Given the description of an element on the screen output the (x, y) to click on. 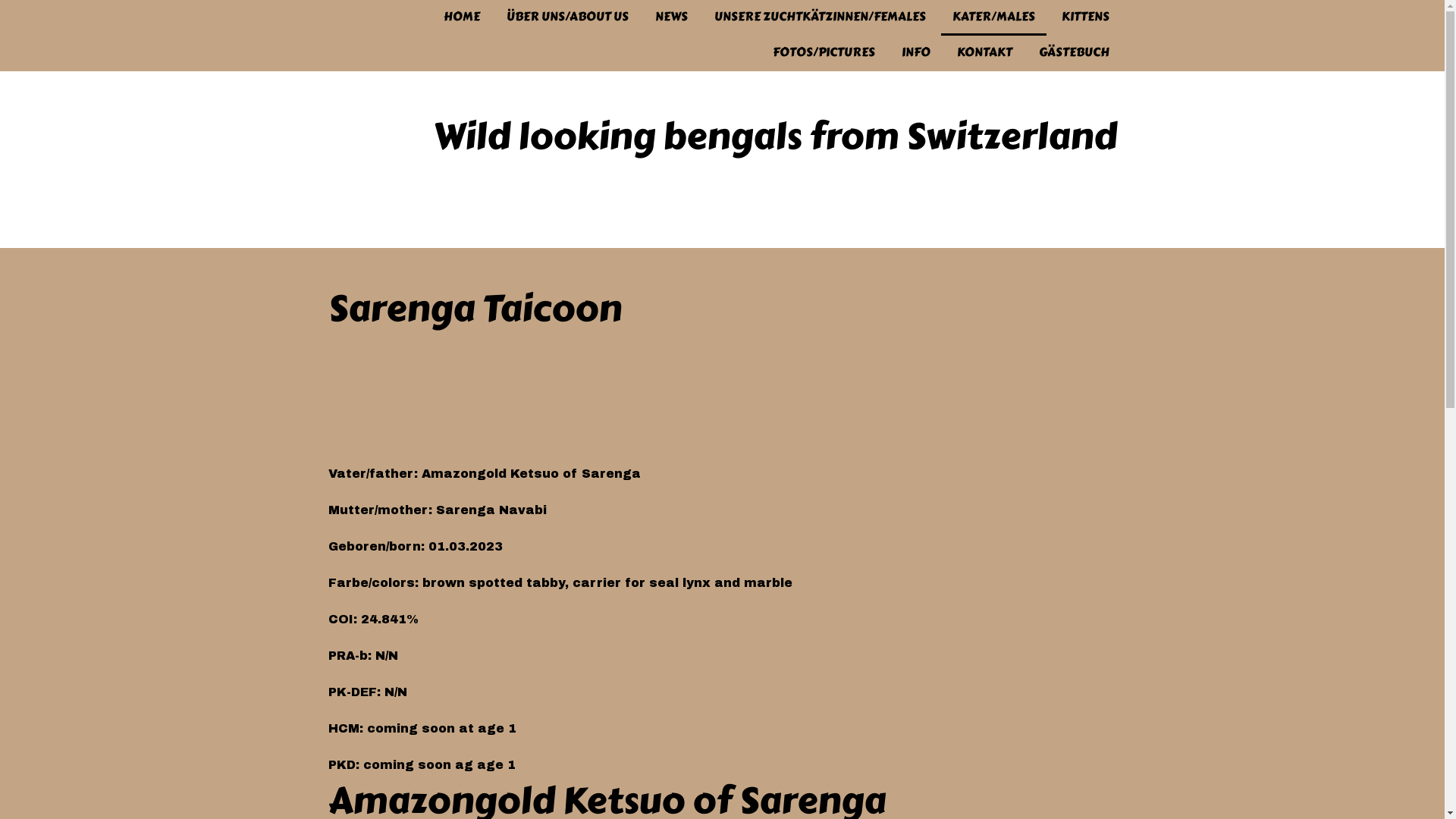
NEWS Element type: text (670, 17)
KONTAKT Element type: text (983, 53)
INFO Element type: text (915, 53)
HOME Element type: text (461, 17)
KITTENS Element type: text (1084, 17)
FOTOS/PICTURES Element type: text (823, 53)
KATER/MALES Element type: text (992, 17)
Wild looking bengals from Switzerland Element type: text (774, 143)
